Given the description of an element on the screen output the (x, y) to click on. 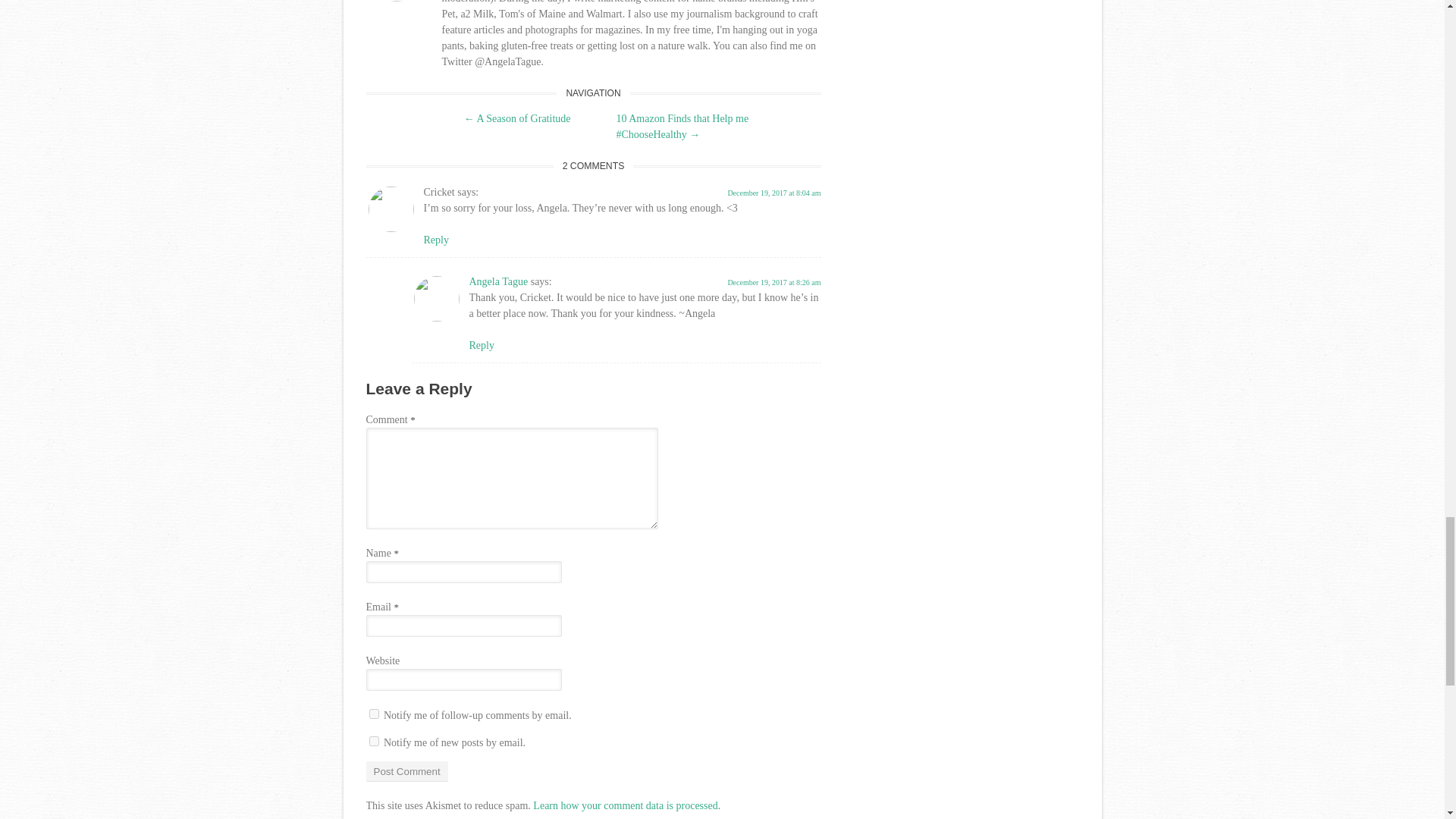
subscribe (373, 741)
Post Comment (405, 771)
subscribe (373, 714)
